Given the description of an element on the screen output the (x, y) to click on. 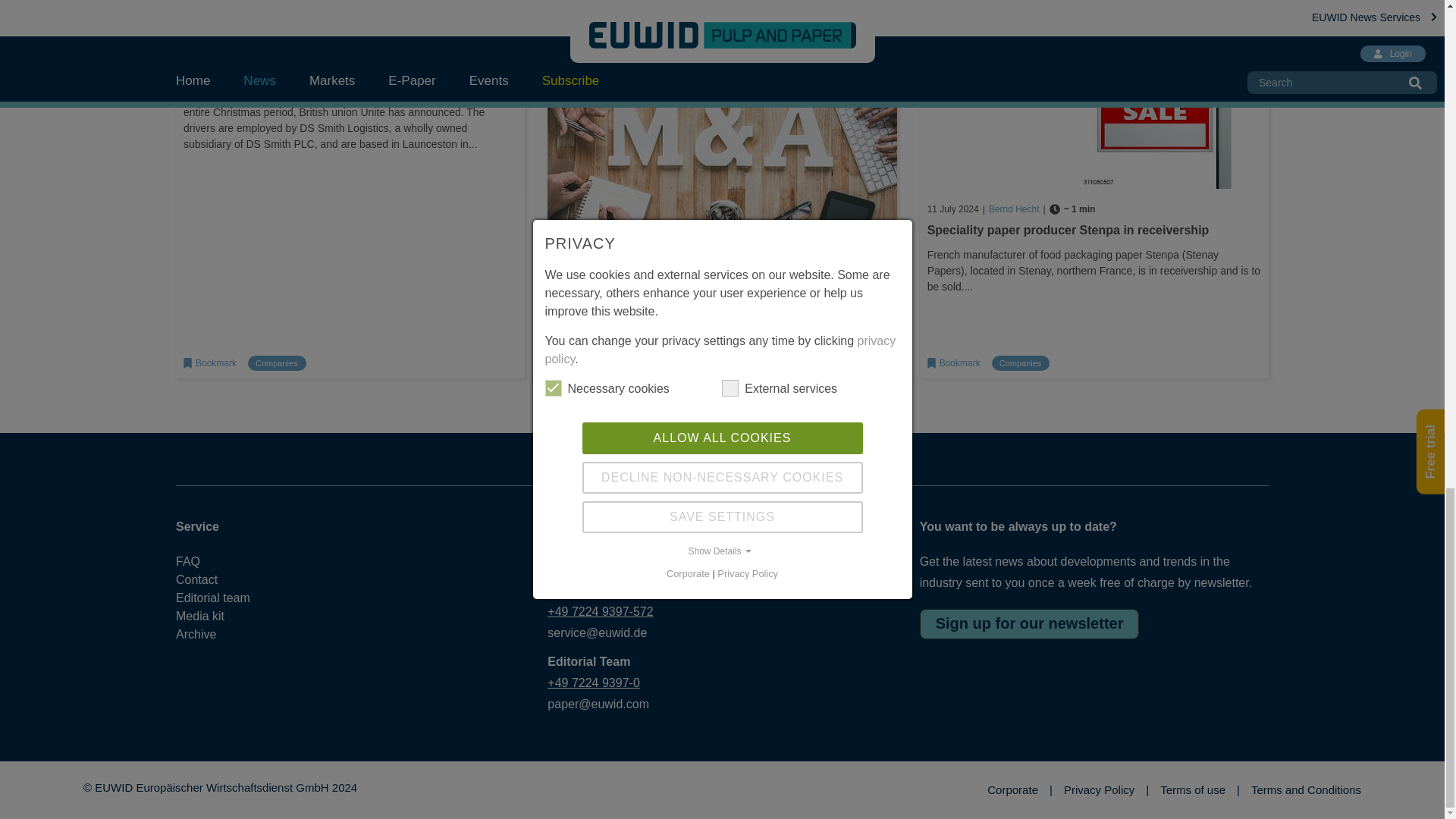
Terms and Conditions (1305, 790)
Editorial team (226, 597)
54 Sekunden (352, 34)
Contact (226, 579)
Media kit (226, 616)
Companies (276, 363)
Archive (226, 634)
FAQ (226, 561)
62 Sekunden (1072, 208)
Corporate (1019, 790)
Terms of use (1200, 790)
DS Smith drivers continue strikes until Christmas (325, 55)
Privacy Policy (1106, 790)
65 Sekunden (710, 261)
